Given the description of an element on the screen output the (x, y) to click on. 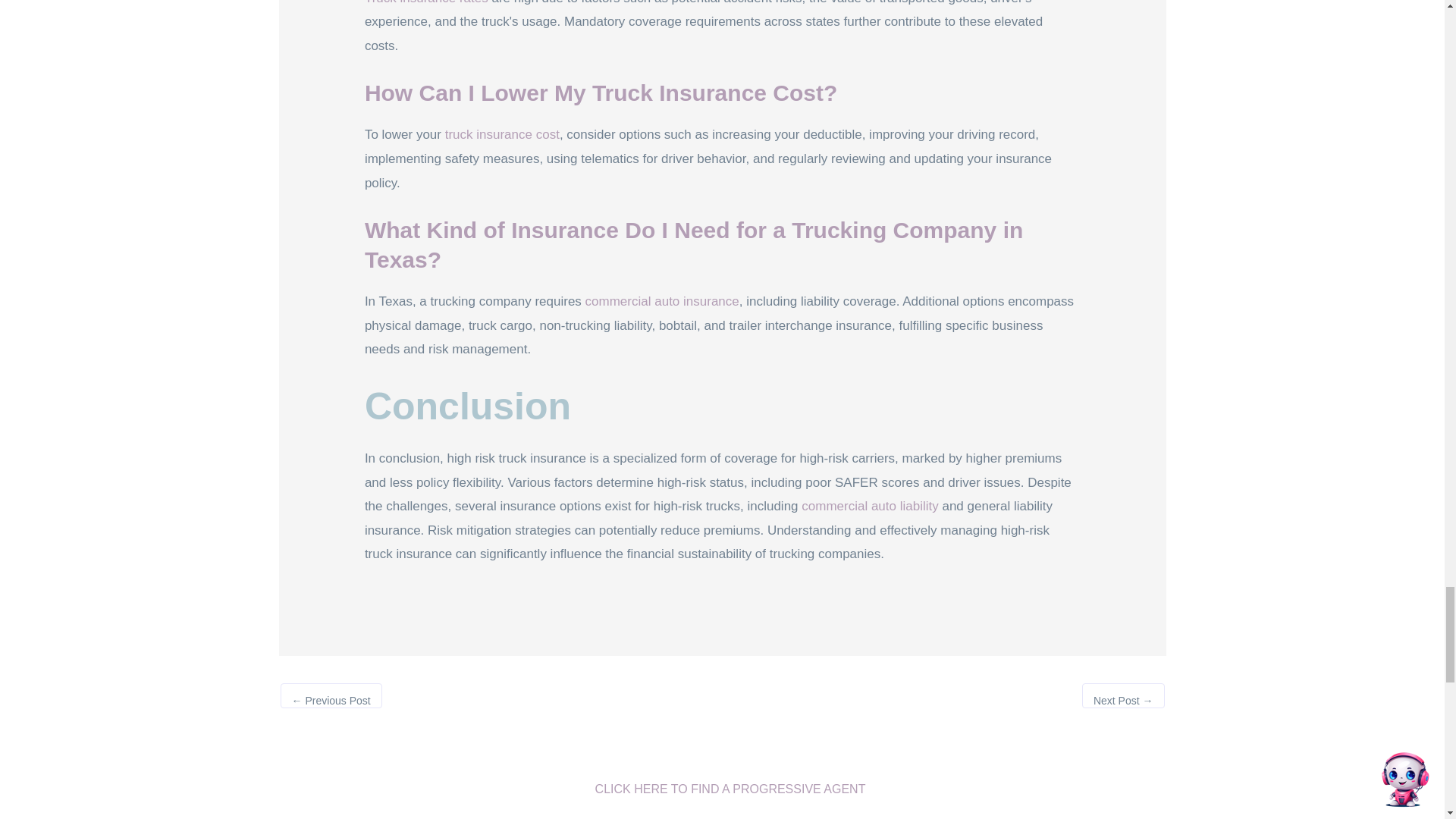
Truck insurance rates (426, 2)
commercial auto liability (869, 505)
CLICK HERE TO FIND A PROGRESSIVE AGENT (722, 790)
truck insurance cost (502, 134)
Truck Insurance Rates (426, 2)
commercial auto insurance (662, 301)
